Given the description of an element on the screen output the (x, y) to click on. 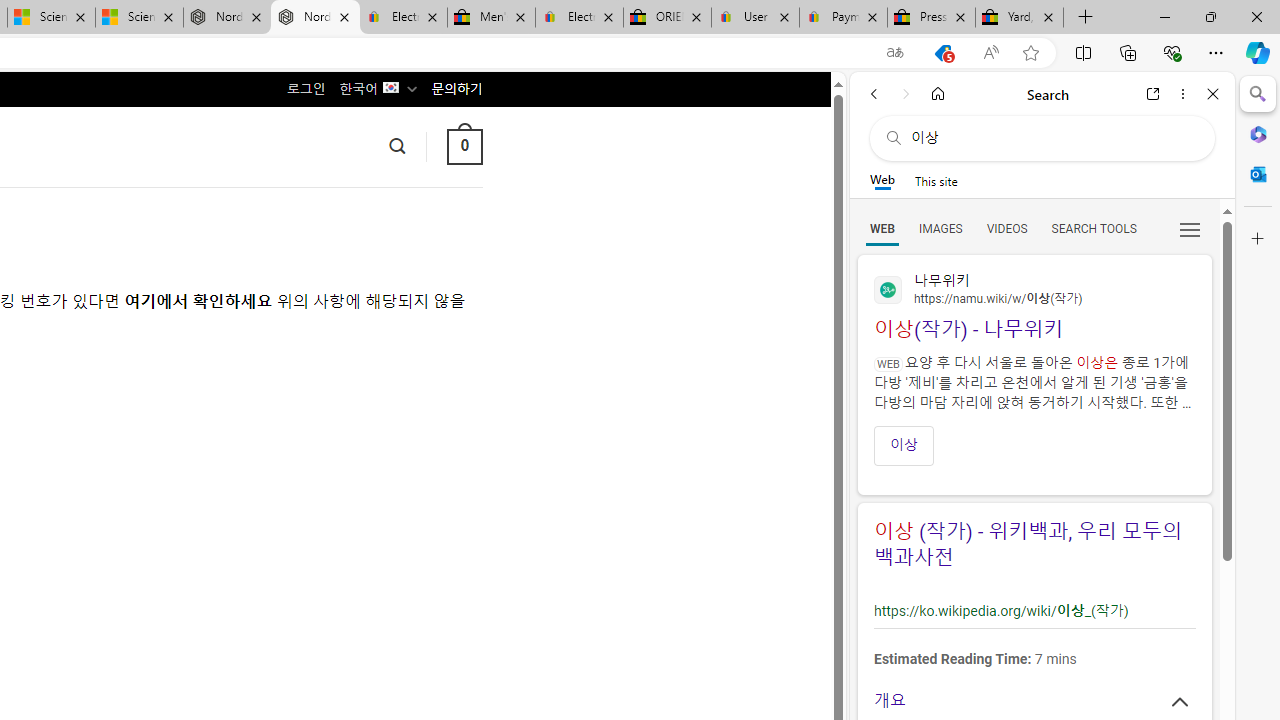
User Privacy Notice | eBay (754, 17)
Nordace - Summer Adventures 2024 (227, 17)
